Given the description of an element on the screen output the (x, y) to click on. 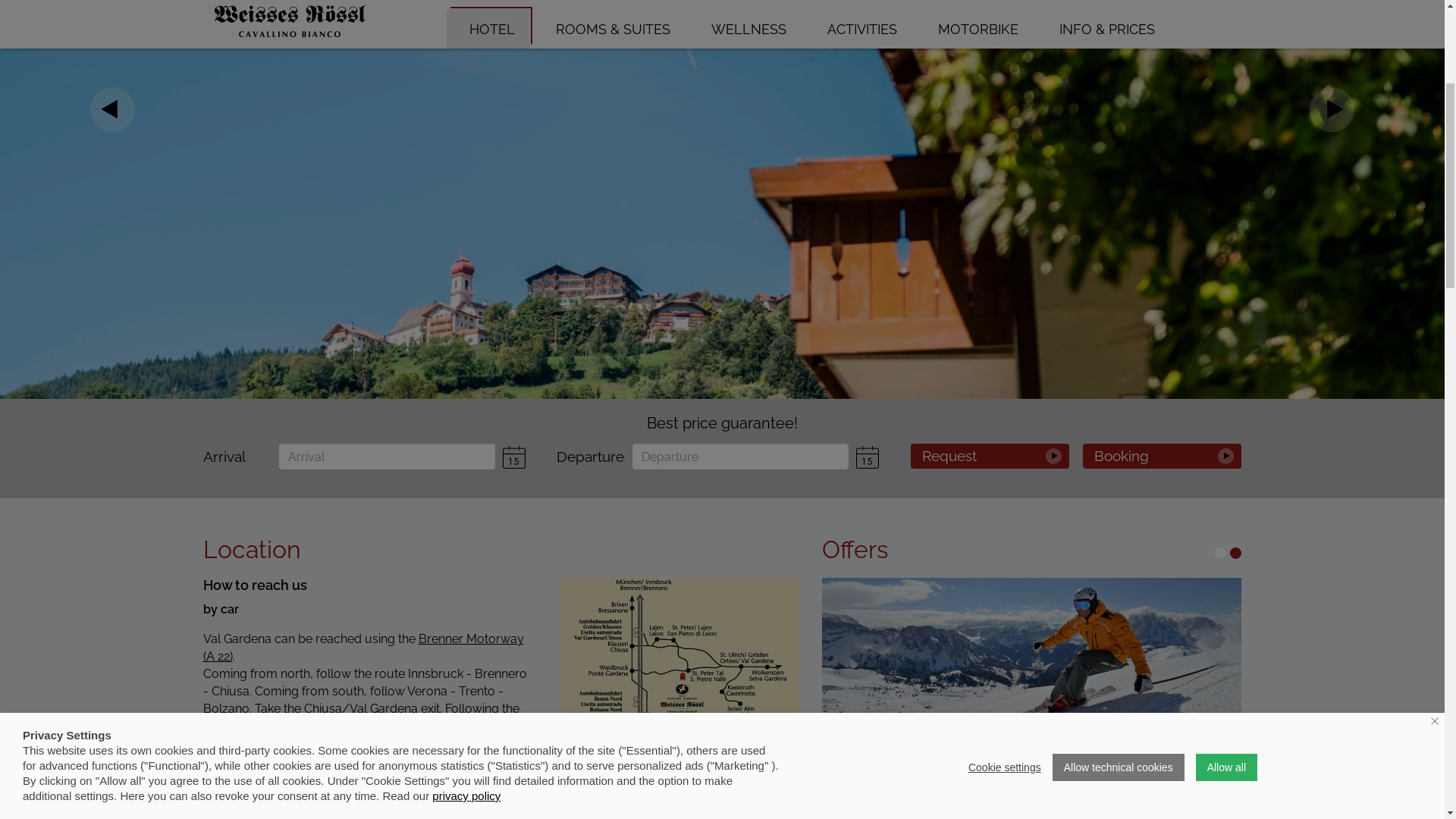
HOTEL Element type: text (487, 317)
Booking Element type: text (1162, 744)
ROOMS & SUITES Element type: text (609, 317)
MOTORBIKE Element type: text (974, 317)
IT Element type: text (1217, 252)
WELLNESS Element type: text (744, 317)
DE Element type: text (1195, 252)
ACTIVITIES Element type: text (858, 317)
Request Element type: text (990, 744)
INFO & PRICES Element type: text (1102, 317)
EN Element type: text (1173, 252)
